Given the description of an element on the screen output the (x, y) to click on. 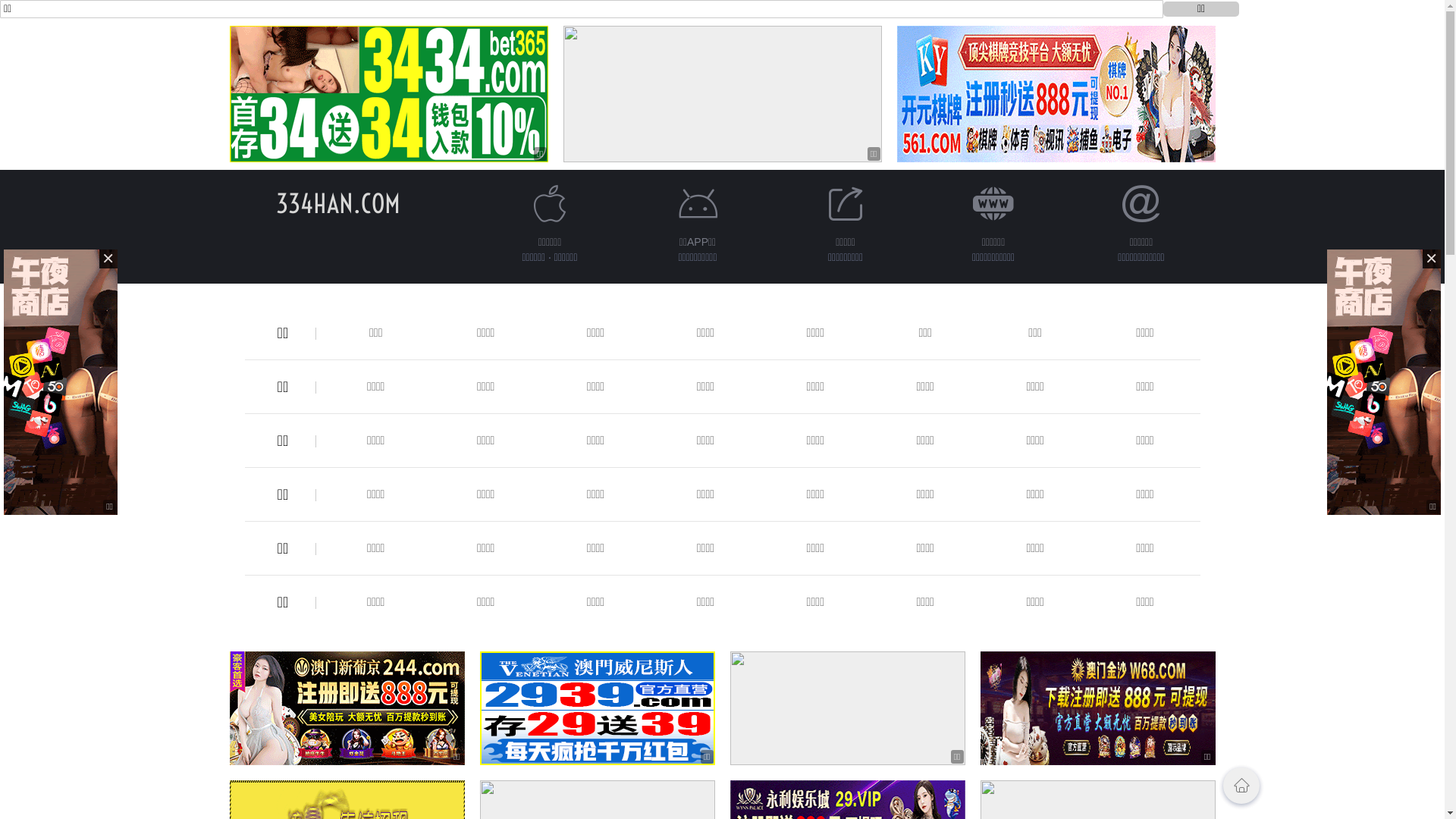
334HAN.COM Element type: text (338, 203)
